Given the description of an element on the screen output the (x, y) to click on. 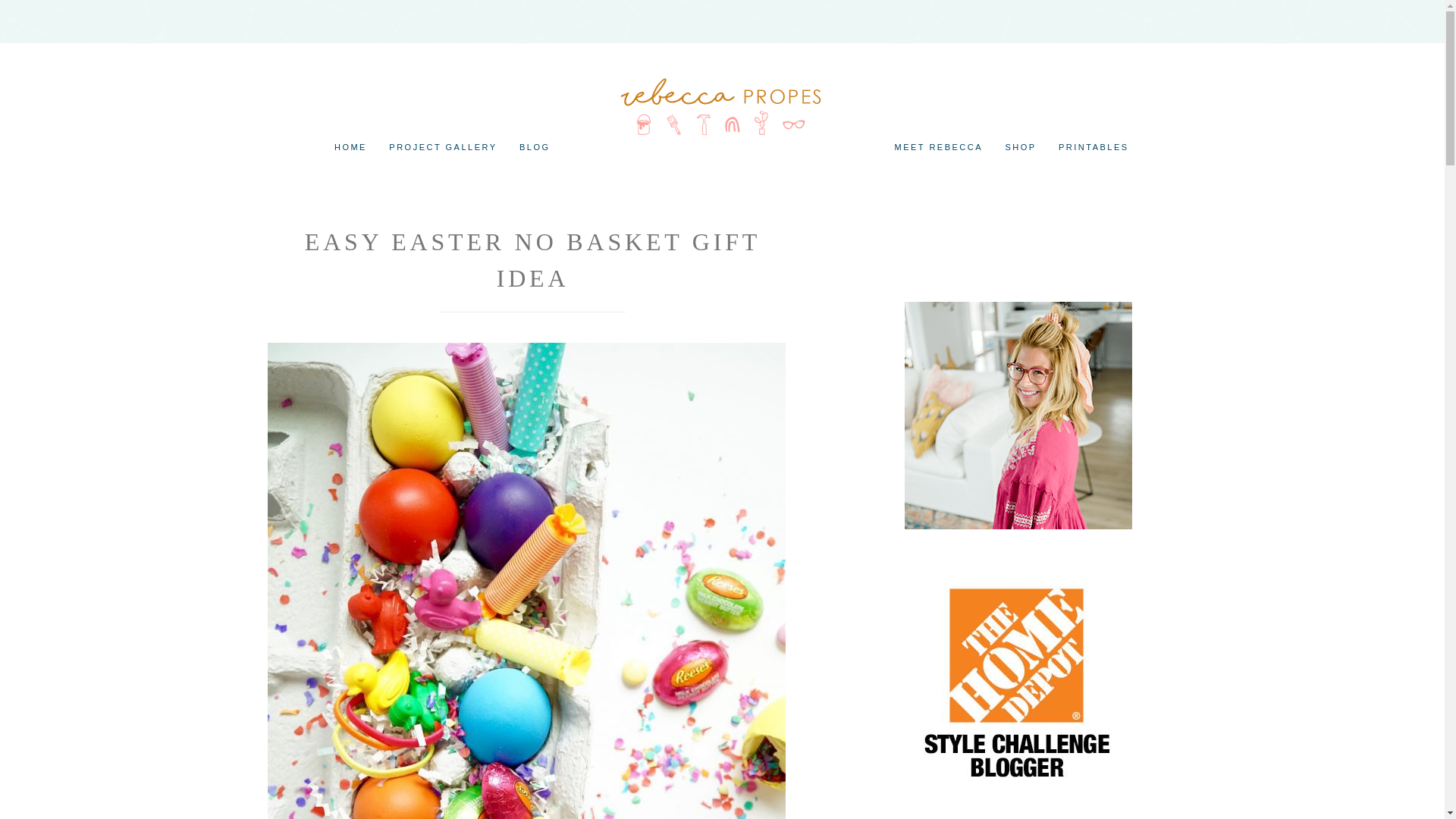
SHOP (1020, 146)
HOME (349, 146)
PROJECT GALLERY (442, 146)
BLOG (535, 146)
MEET REBECCA (938, 146)
PRINTABLES (1093, 146)
